Given the description of an element on the screen output the (x, y) to click on. 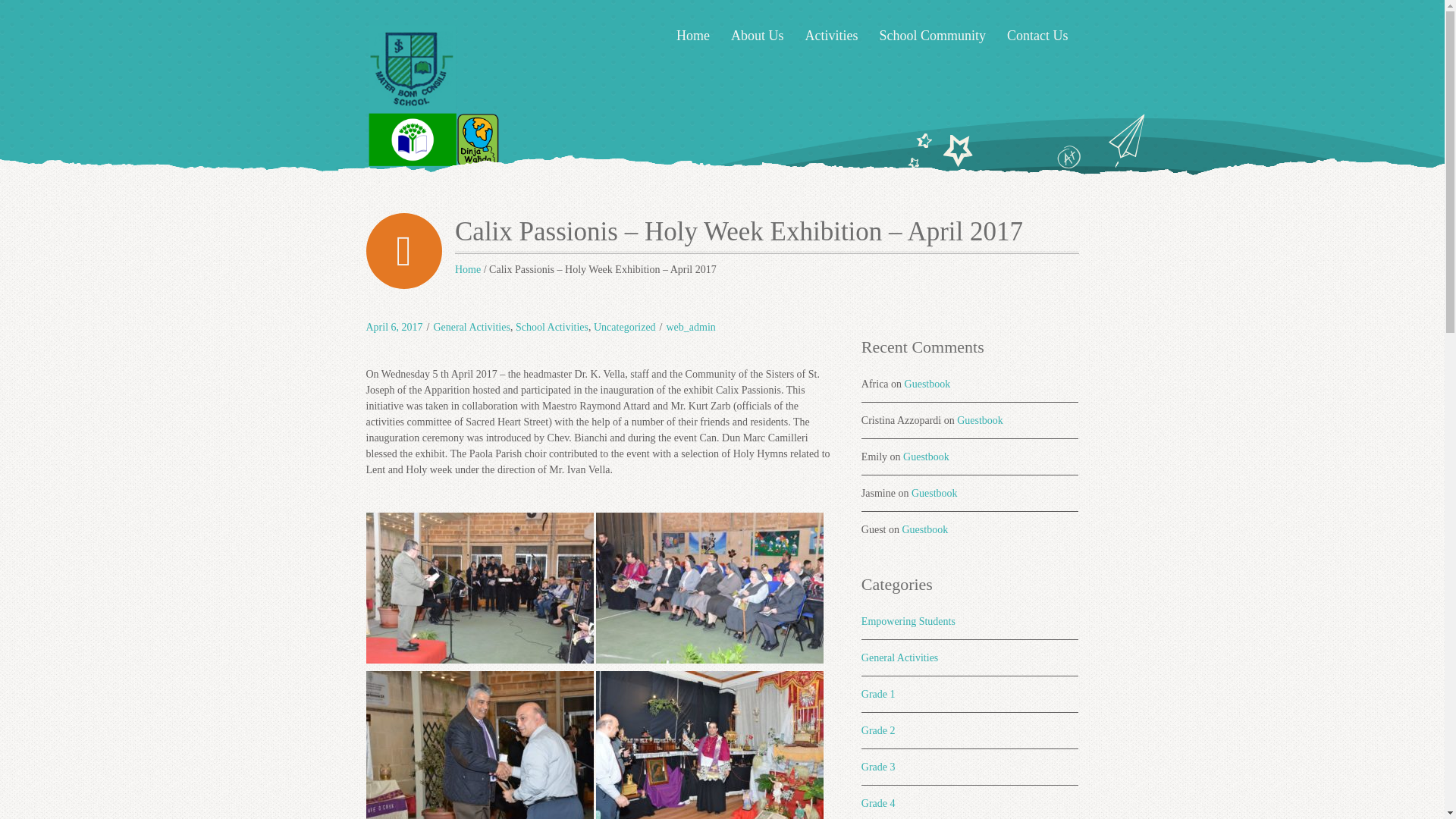
Home (692, 35)
Guestbook (925, 529)
Uncategorized (625, 326)
General Activities (470, 326)
School Community (931, 35)
Activities (830, 35)
Grade 2 (878, 730)
General Activities (899, 657)
Empowering Students (908, 621)
Guestbook (934, 492)
April 6, 2017 (393, 326)
Contact Us (1036, 35)
Home (467, 269)
Grade 1 (878, 694)
Mater Boni Consilii School (467, 269)
